Given the description of an element on the screen output the (x, y) to click on. 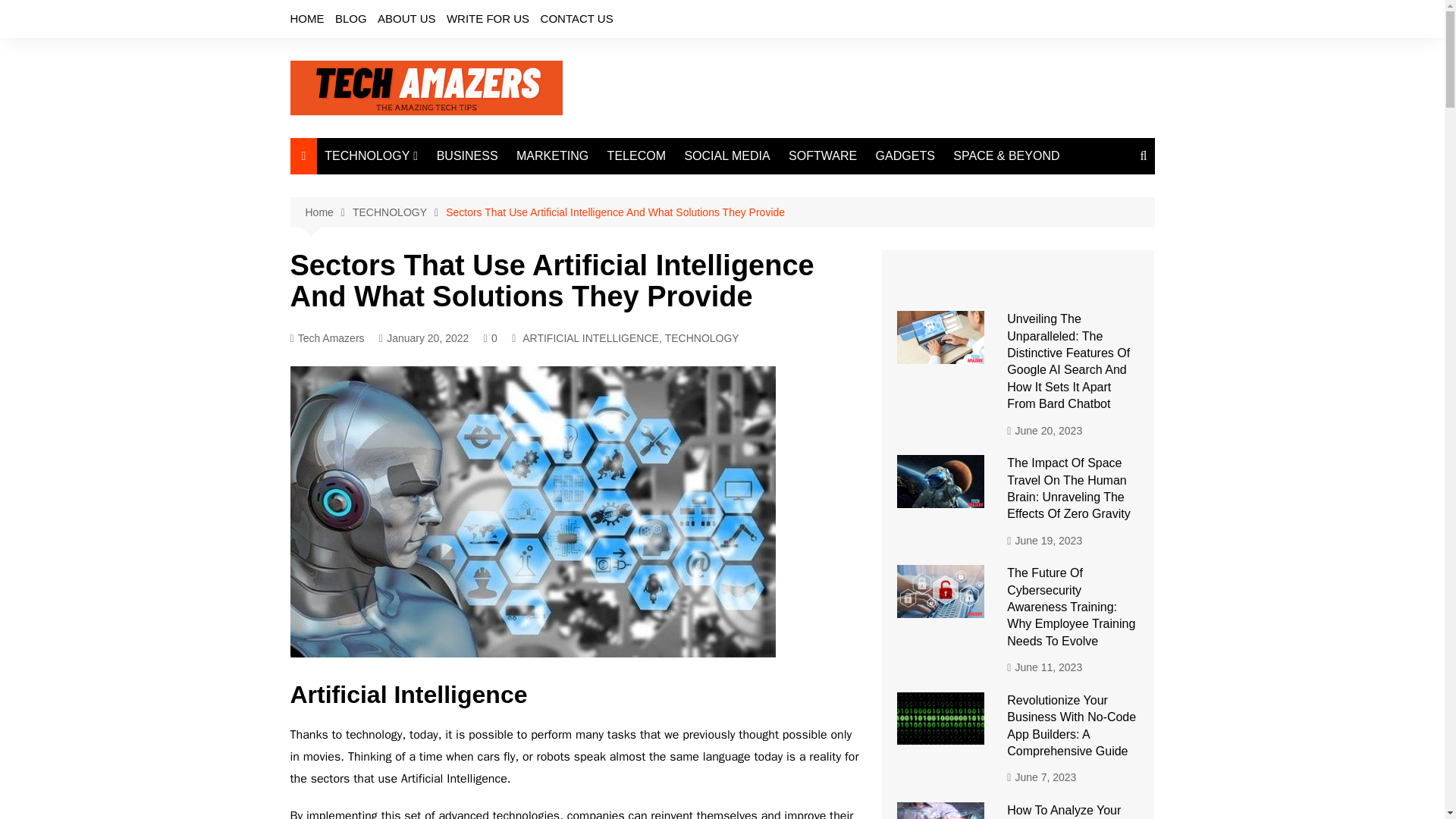
BUSINESS (467, 156)
SOCIAL MEDIA (727, 156)
HOME (306, 18)
MARKETING (551, 156)
CONTACT US (576, 18)
SOFTWARE (822, 156)
TECHNOLOGY (371, 156)
SEO (400, 374)
WRITE FOR US (487, 18)
ABOUT US (406, 18)
BIG DATA (400, 249)
CYBER SECURITY (400, 349)
CLOUD COMPUTING (400, 299)
BLOG (350, 18)
